Given the description of an element on the screen output the (x, y) to click on. 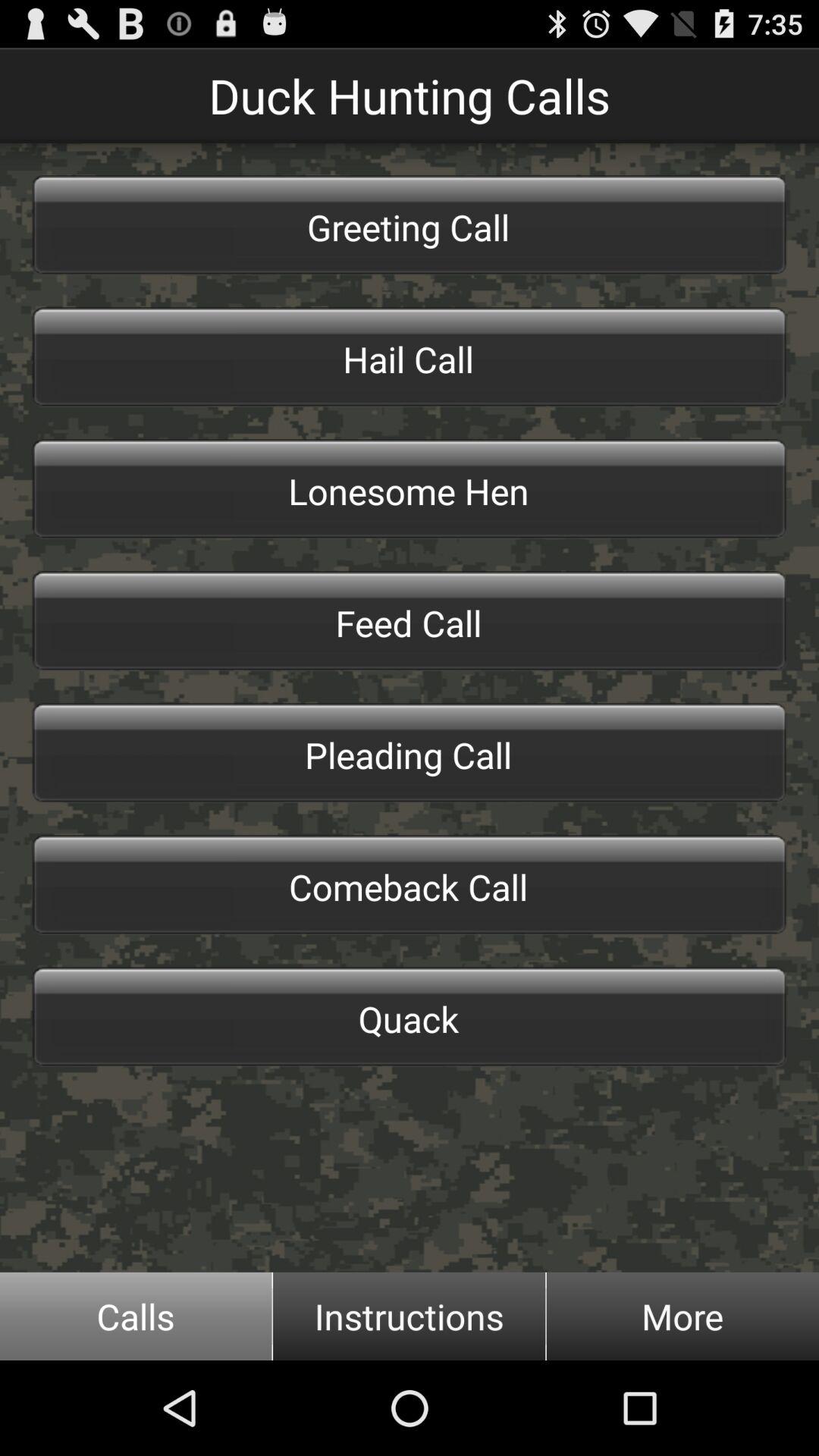
choose the lonesome hen (409, 489)
